Given the description of an element on the screen output the (x, y) to click on. 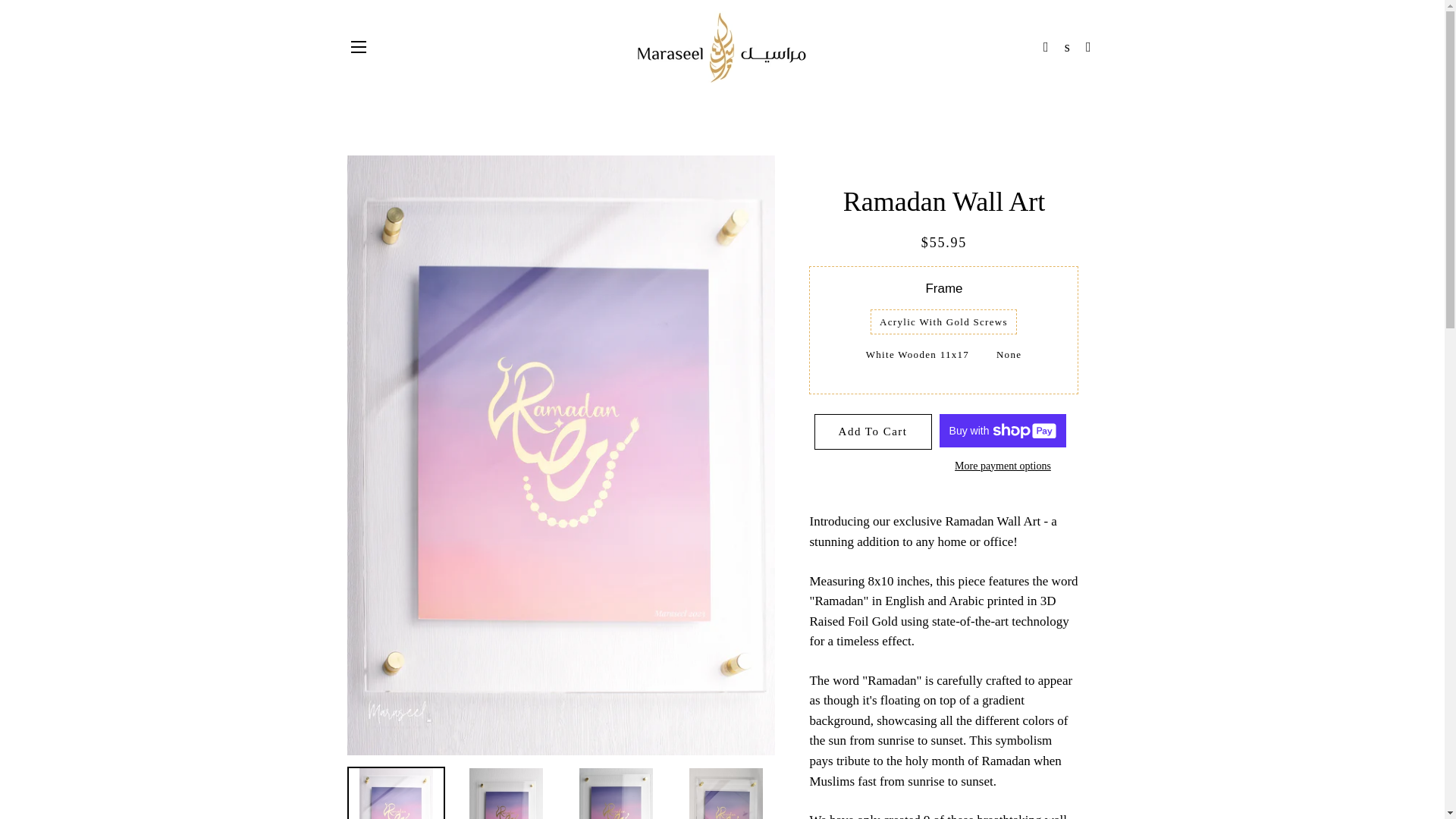
Site navigation (358, 46)
